Given the description of an element on the screen output the (x, y) to click on. 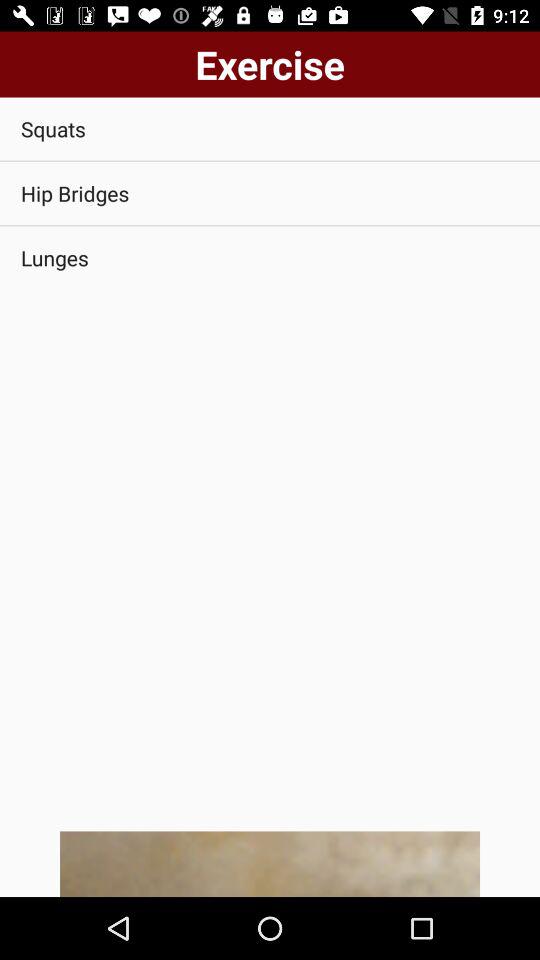
tap app below squats icon (270, 193)
